Given the description of an element on the screen output the (x, y) to click on. 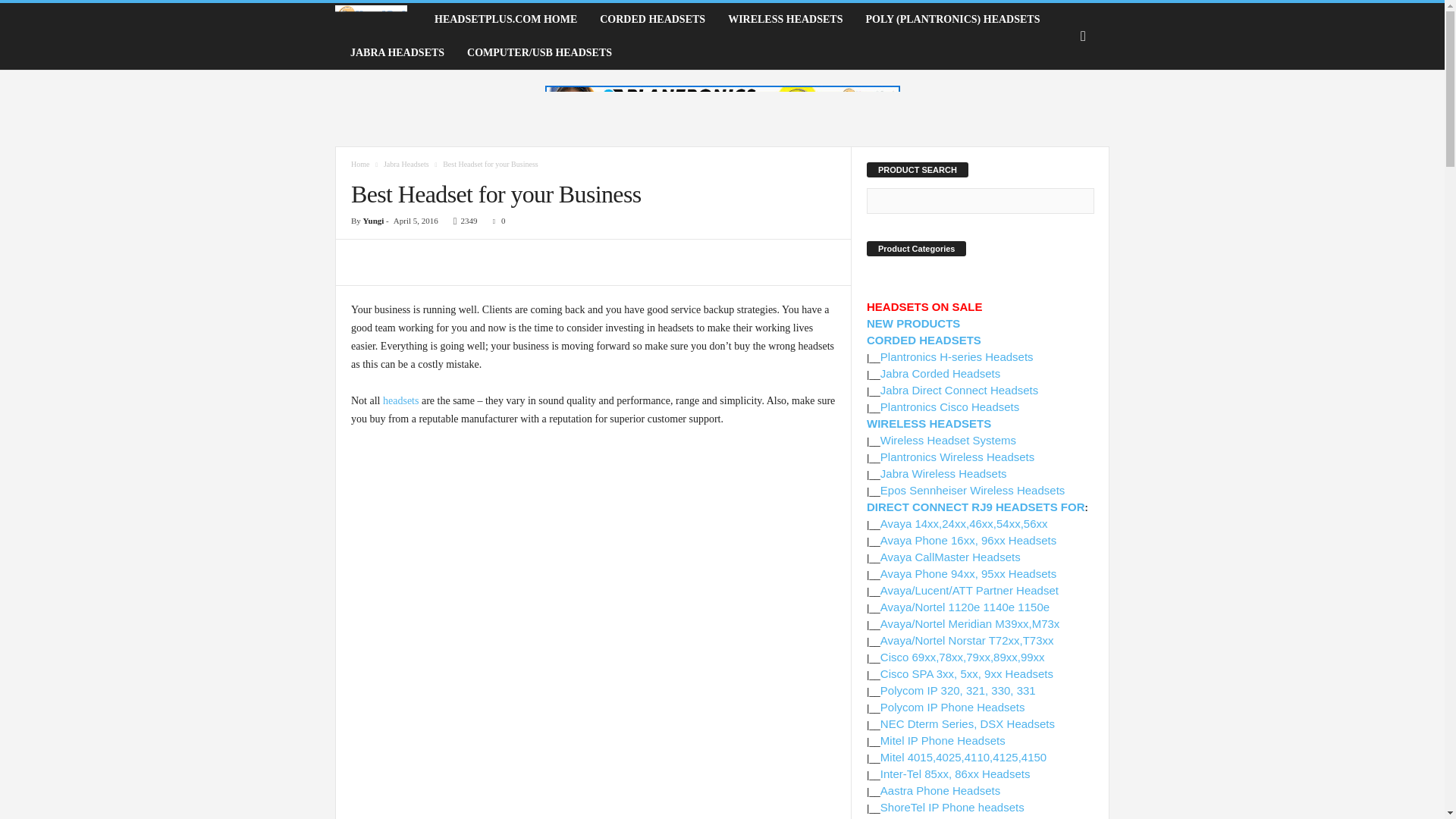
HeadsetPlus.com Plantronics, Jabra Headset Blog (378, 19)
JABRA HEADSETS (397, 52)
headsets (400, 400)
Jabra Headsets (406, 163)
HeadsetPlus.com Blog (370, 19)
HEADSETPLUS.COM HOME (505, 19)
Home (359, 163)
CORDED HEADSETS (652, 19)
0 (495, 220)
View all posts in Jabra Headsets (406, 163)
